Given the description of an element on the screen output the (x, y) to click on. 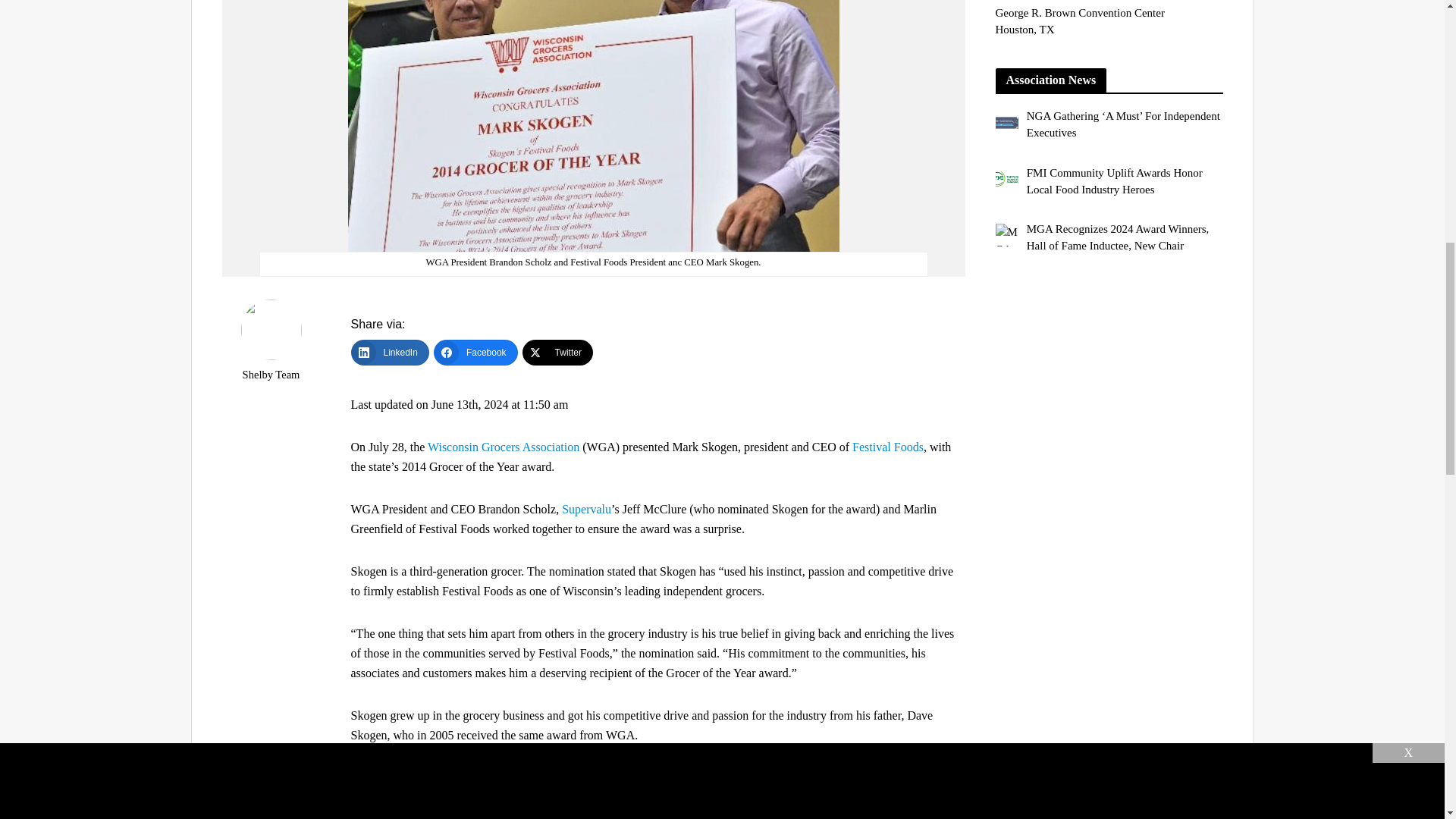
Wisconsin Grocers Association (503, 446)
Festival Foods (887, 446)
Supervalu (586, 508)
